Given the description of an element on the screen output the (x, y) to click on. 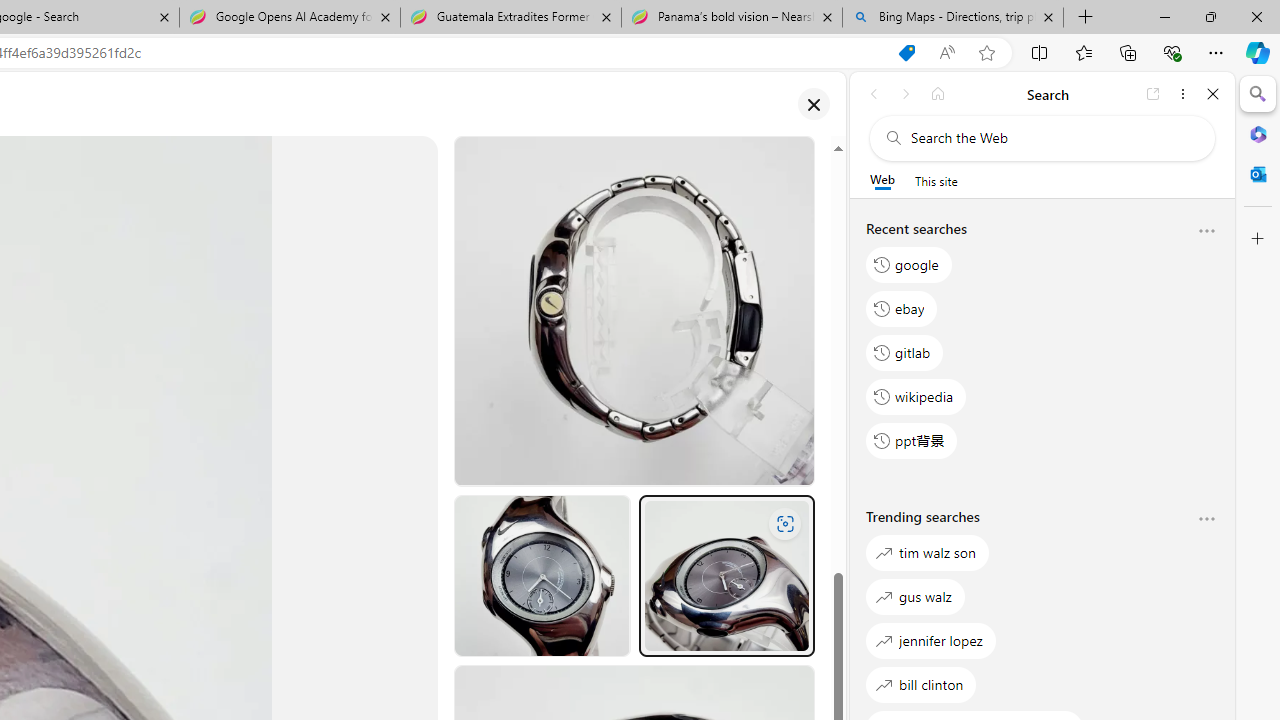
gus walz (915, 596)
jennifer lopez (930, 640)
ebay (902, 308)
